Given the description of an element on the screen output the (x, y) to click on. 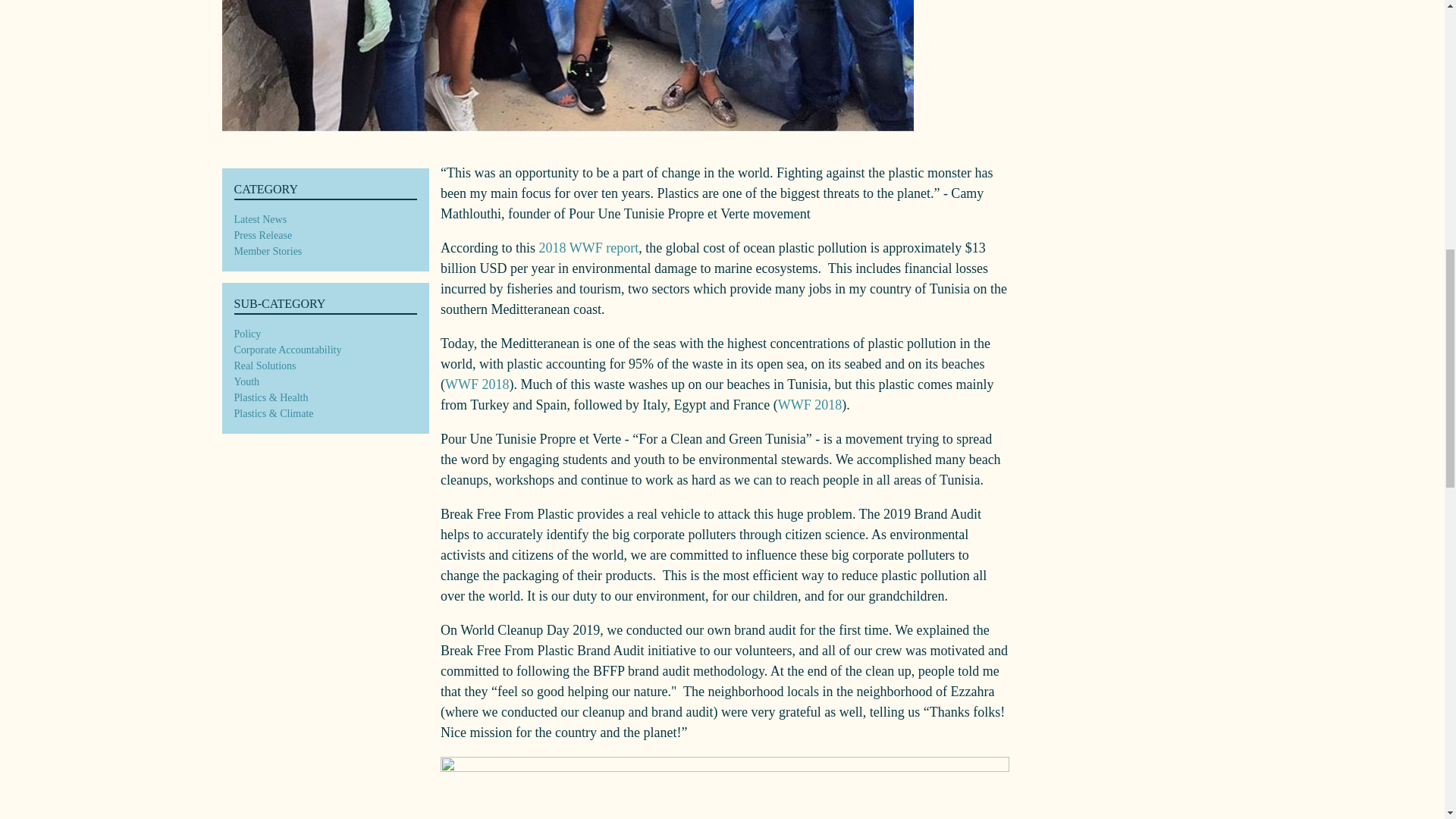
Corporate Accountability (286, 349)
Latest News (259, 219)
Policy (246, 333)
Member Stories (266, 251)
Press Release (262, 235)
